Given the description of an element on the screen output the (x, y) to click on. 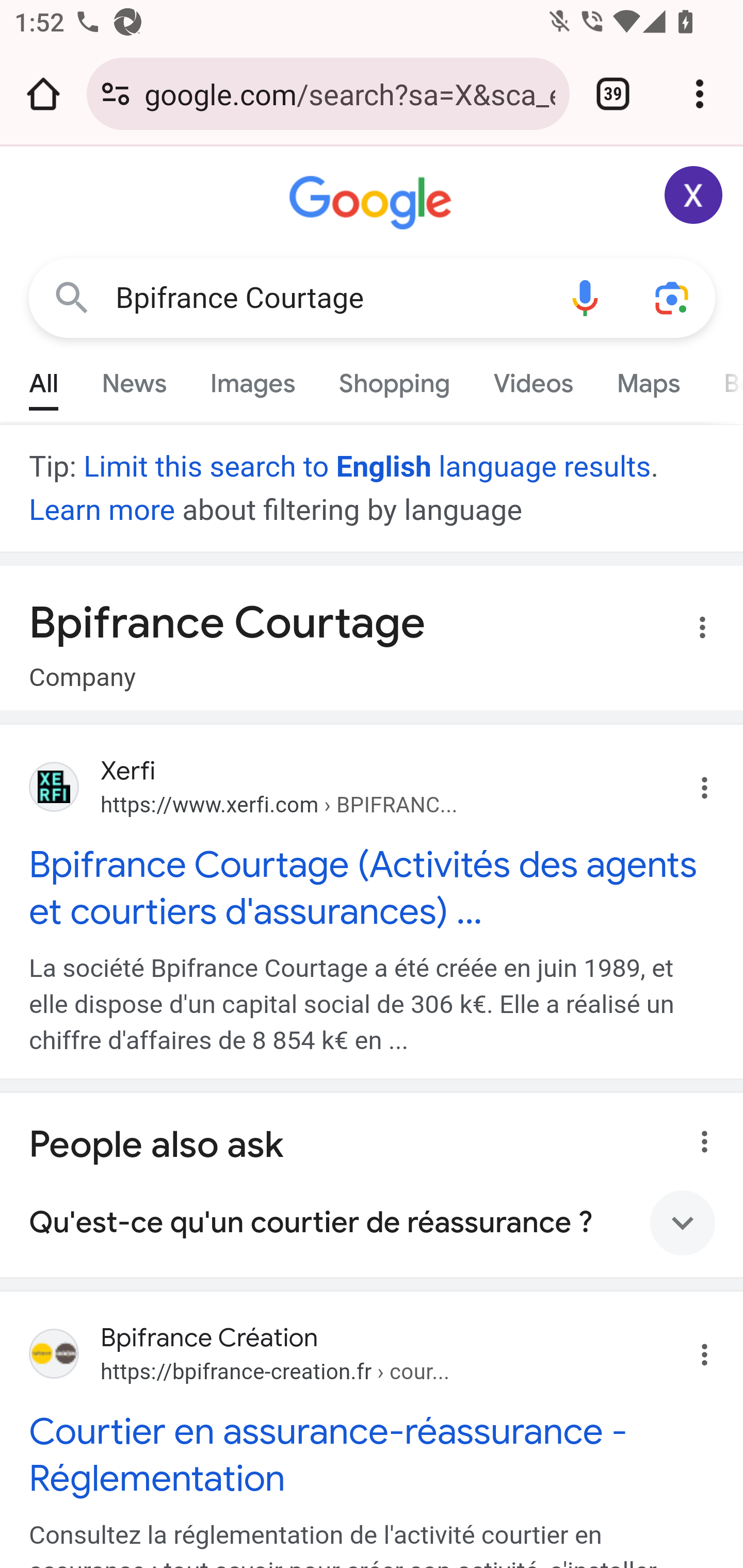
Open the home page (43, 93)
Connection is secure (115, 93)
Switch or close tabs (612, 93)
Customize and control Google Chrome (699, 93)
Google (372, 203)
Google Account: Xiaoran (zxrappiumtest@gmail.com) (694, 195)
Google Search (71, 296)
Search using your camera or photos (672, 296)
Bpifrance Courtage (328, 297)
News (134, 378)
Images (252, 378)
Shopping (394, 378)
Videos (533, 378)
Maps (647, 378)
Learn more (102, 509)
More options (690, 630)
About this result (698, 1135)
Qu'est-ce qu'un courtier de réassurance ? (372, 1222)
Courtier en assurance-réassurance - Réglementation (372, 1454)
